Given the description of an element on the screen output the (x, y) to click on. 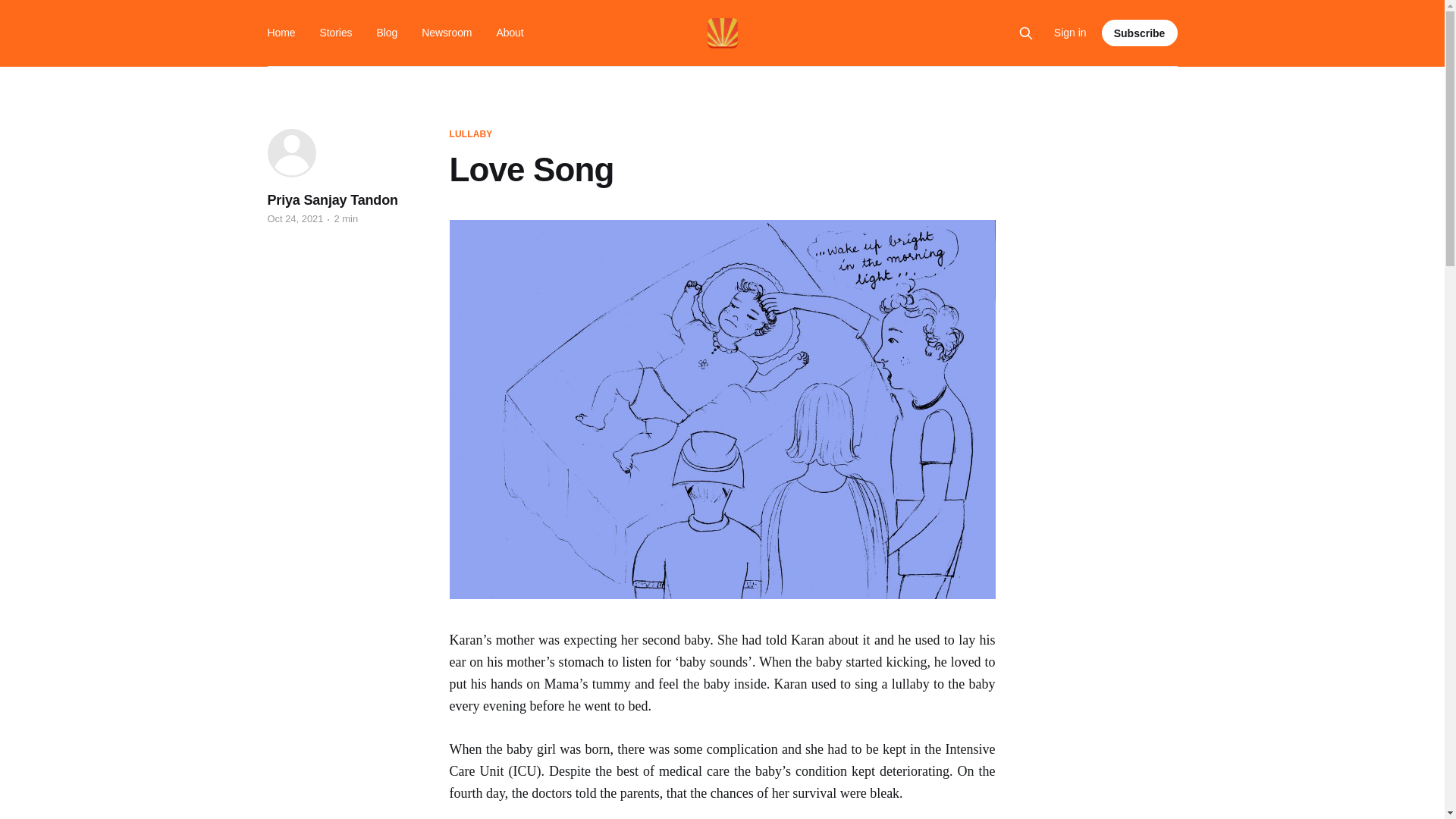
Subscribe (1139, 32)
Sign in (1070, 32)
Home (280, 32)
Priya Sanjay Tandon (331, 199)
About (509, 32)
Stories (336, 32)
Newsroom (446, 32)
Blog (386, 32)
LULLABY (470, 134)
